Given the description of an element on the screen output the (x, y) to click on. 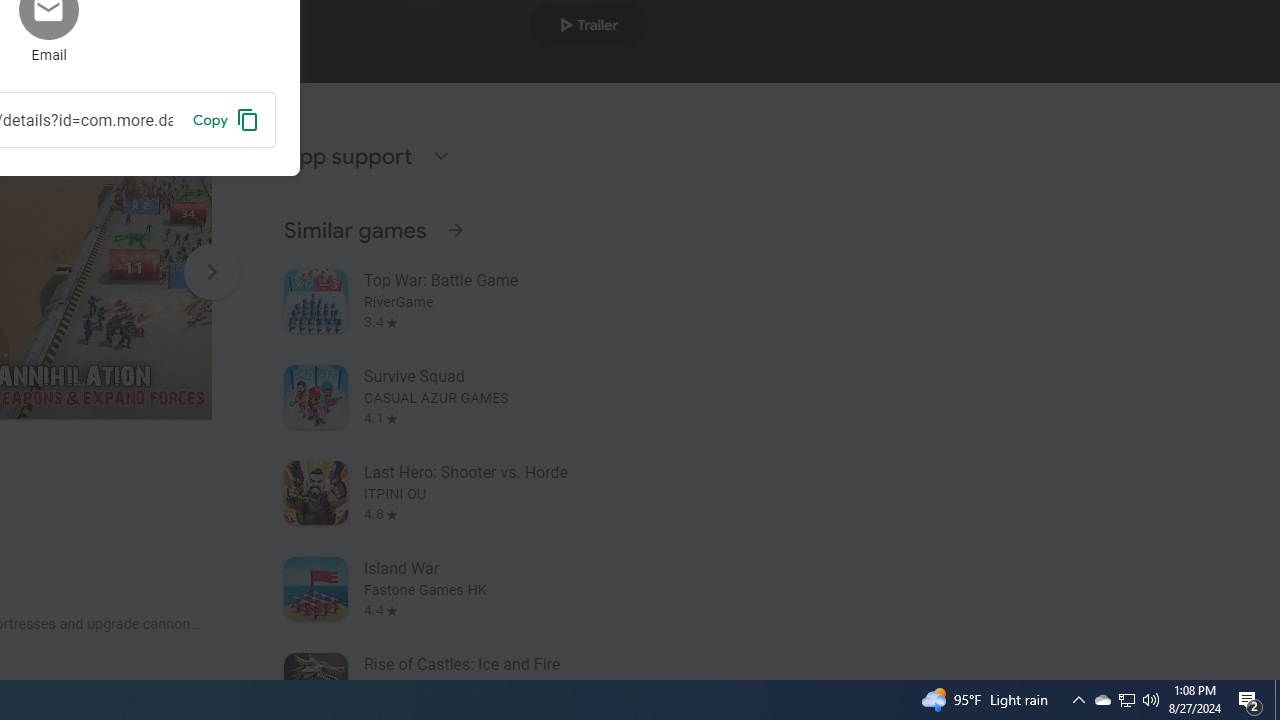
Copy link to clipboard (225, 119)
